Given the description of an element on the screen output the (x, y) to click on. 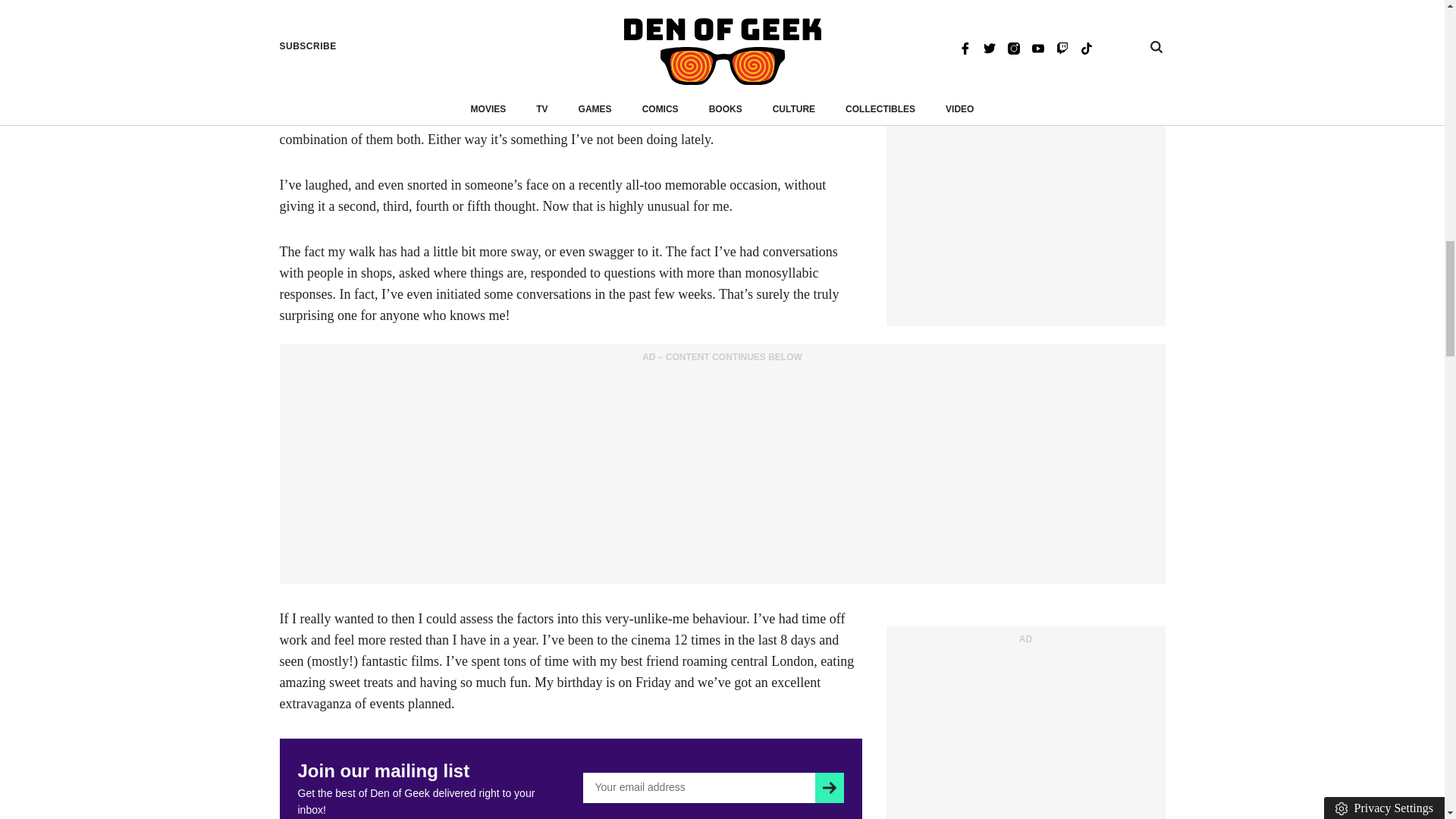
Subscribe (829, 788)
